Given the description of an element on the screen output the (x, y) to click on. 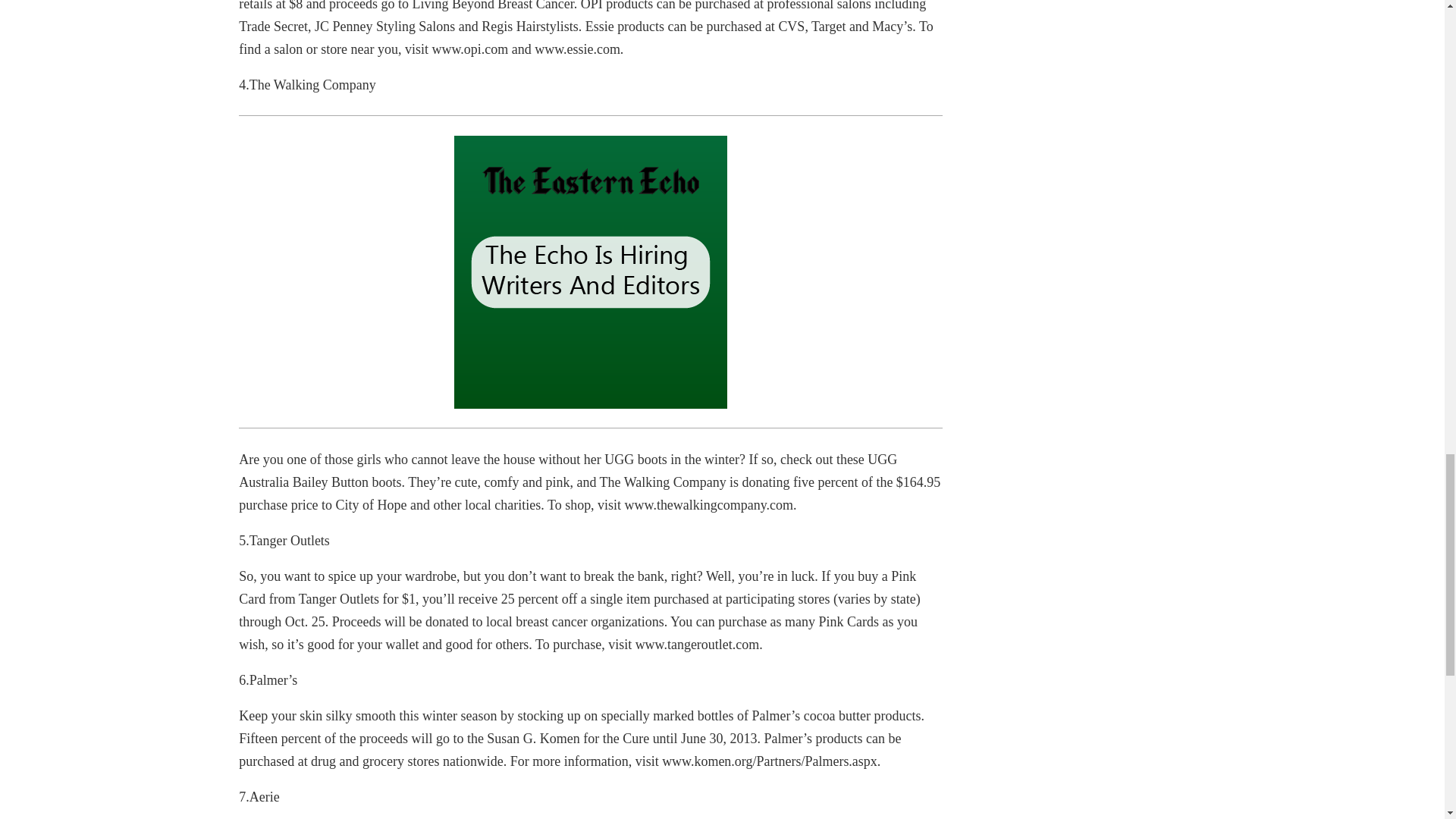
ECHO AD 2 The Echo is Hiring Writers and Editors (590, 271)
